Given the description of an element on the screen output the (x, y) to click on. 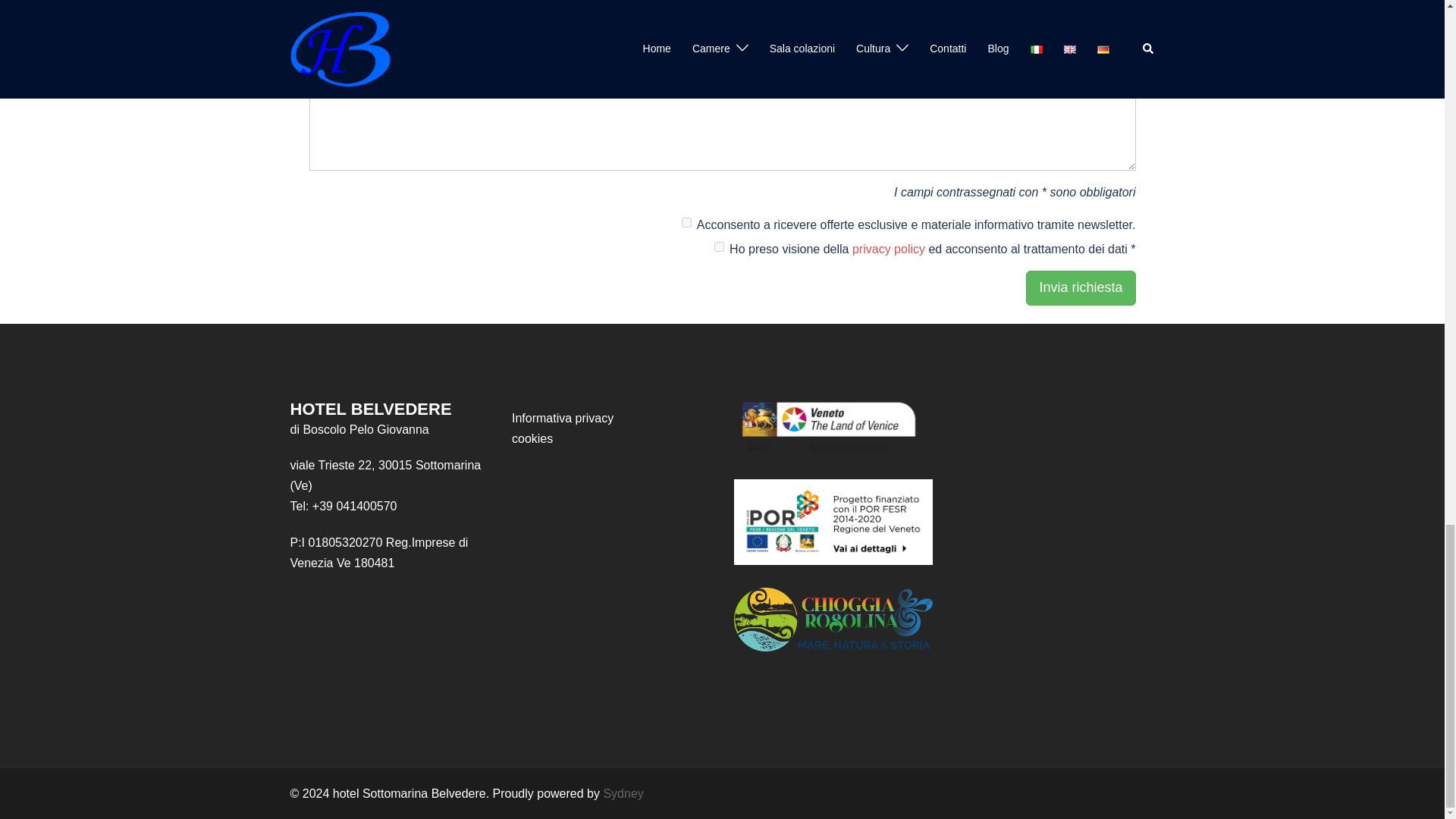
on (686, 222)
on (718, 246)
